Given the description of an element on the screen output the (x, y) to click on. 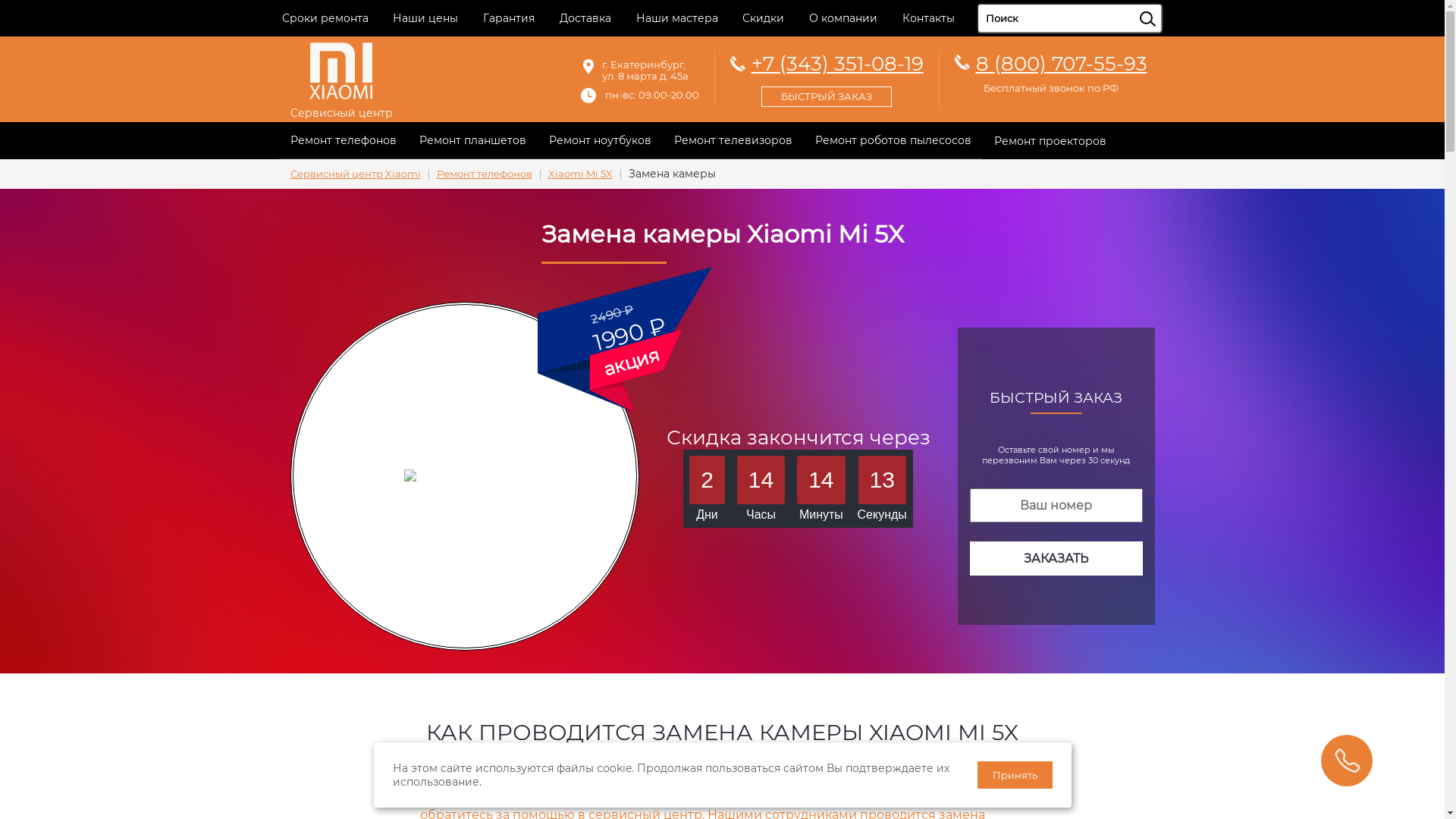
Xiaomi Mi 5X Element type: text (579, 173)
+7 (343) 351-08-19 Element type: text (825, 77)
8 (800) 707-55-93 Element type: text (1060, 63)
sisea.search Element type: text (1165, 3)
